Given the description of an element on the screen output the (x, y) to click on. 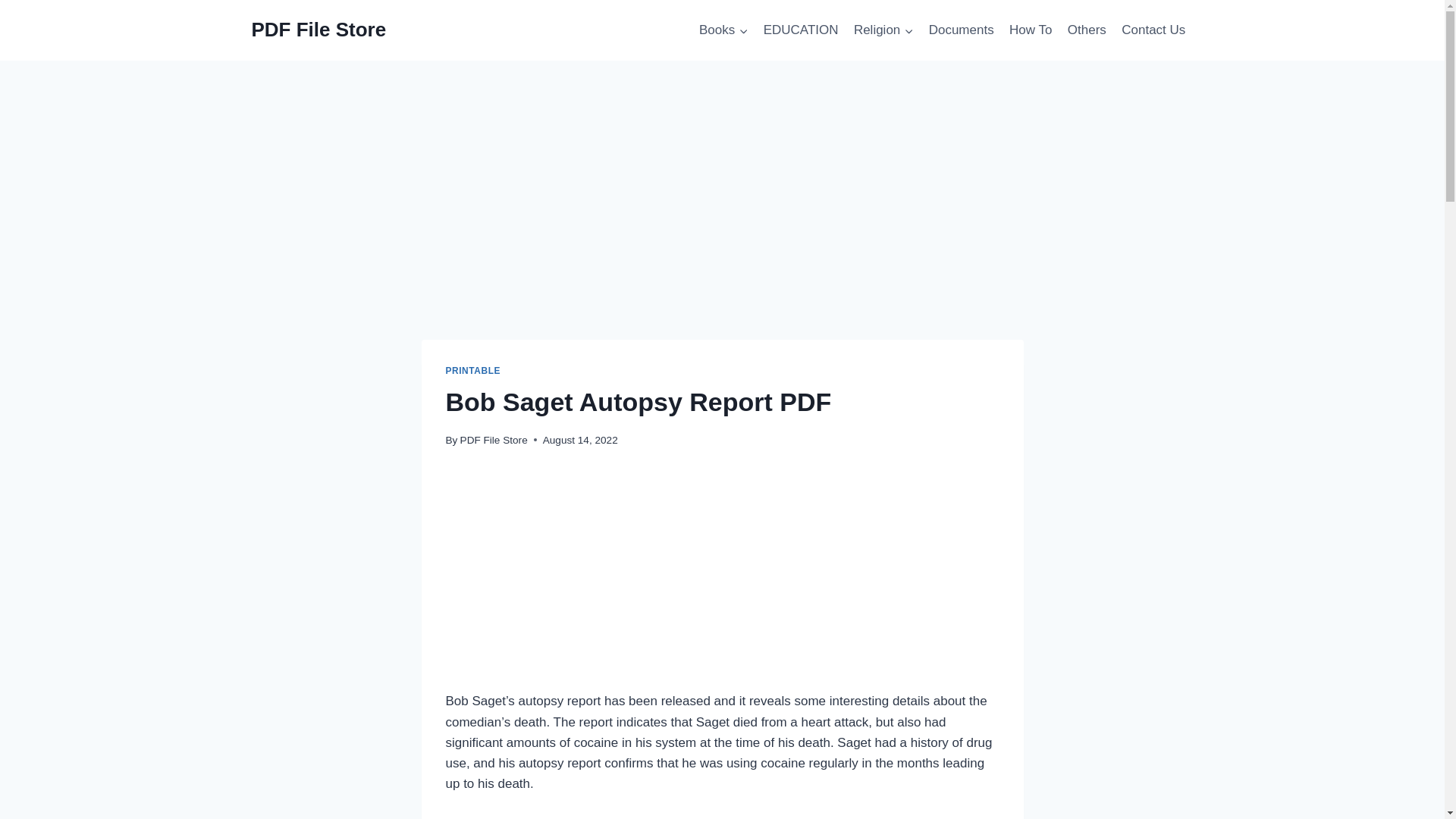
PRINTABLE (472, 370)
Others (1086, 30)
How To (1030, 30)
Advertisement (721, 578)
Books (723, 30)
PDF File Store (319, 29)
Documents (960, 30)
PDF File Store (493, 439)
Religion (883, 30)
Contact Us (1152, 30)
